Given the description of an element on the screen output the (x, y) to click on. 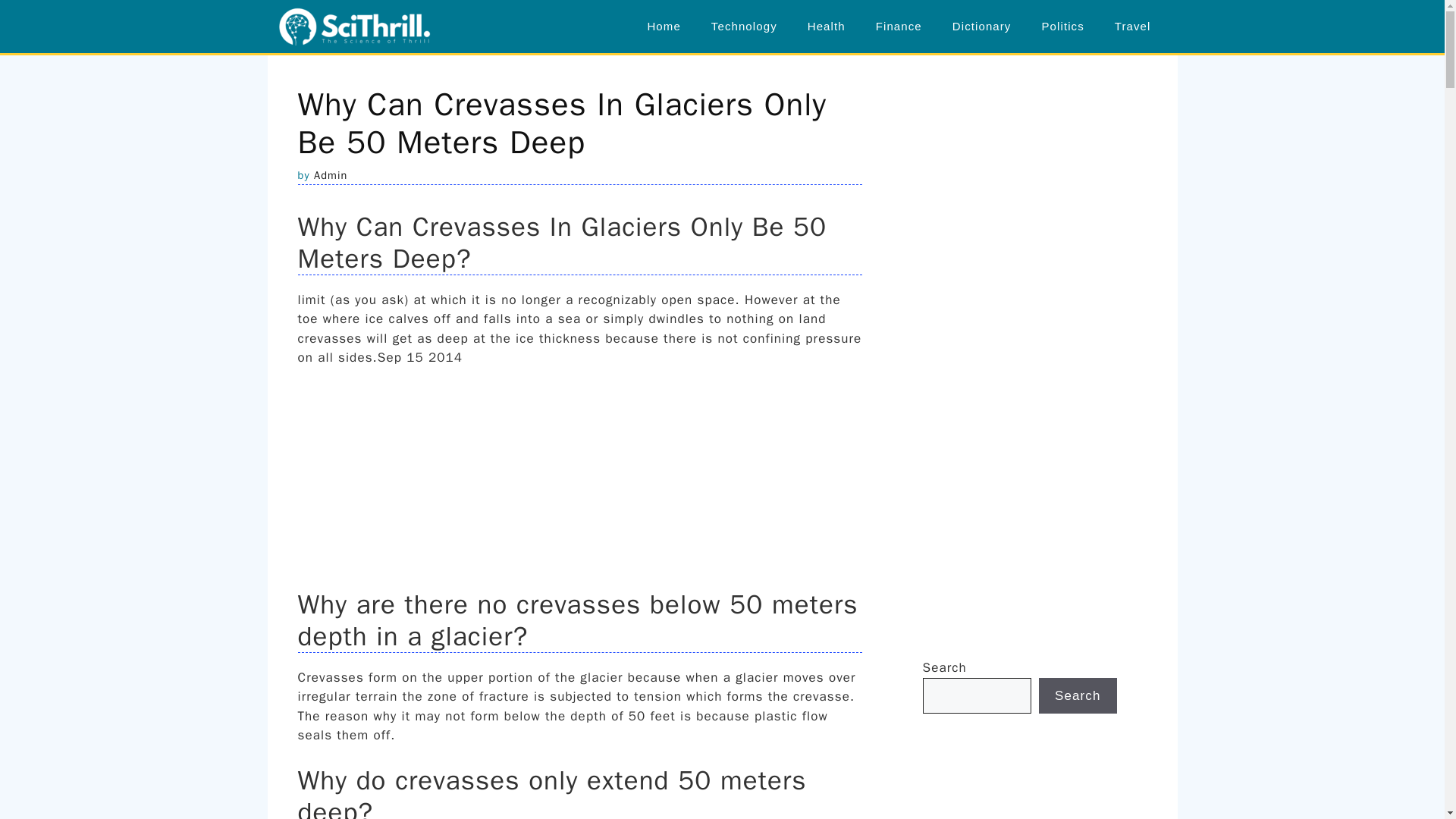
Finance (898, 26)
Search (1077, 696)
Politics (1062, 26)
Sci Thrill (354, 26)
Dictionary (981, 26)
Home (663, 26)
Travel (1132, 26)
View all posts by Admin (330, 174)
Health (826, 26)
Admin (330, 174)
Technology (743, 26)
